Given the description of an element on the screen output the (x, y) to click on. 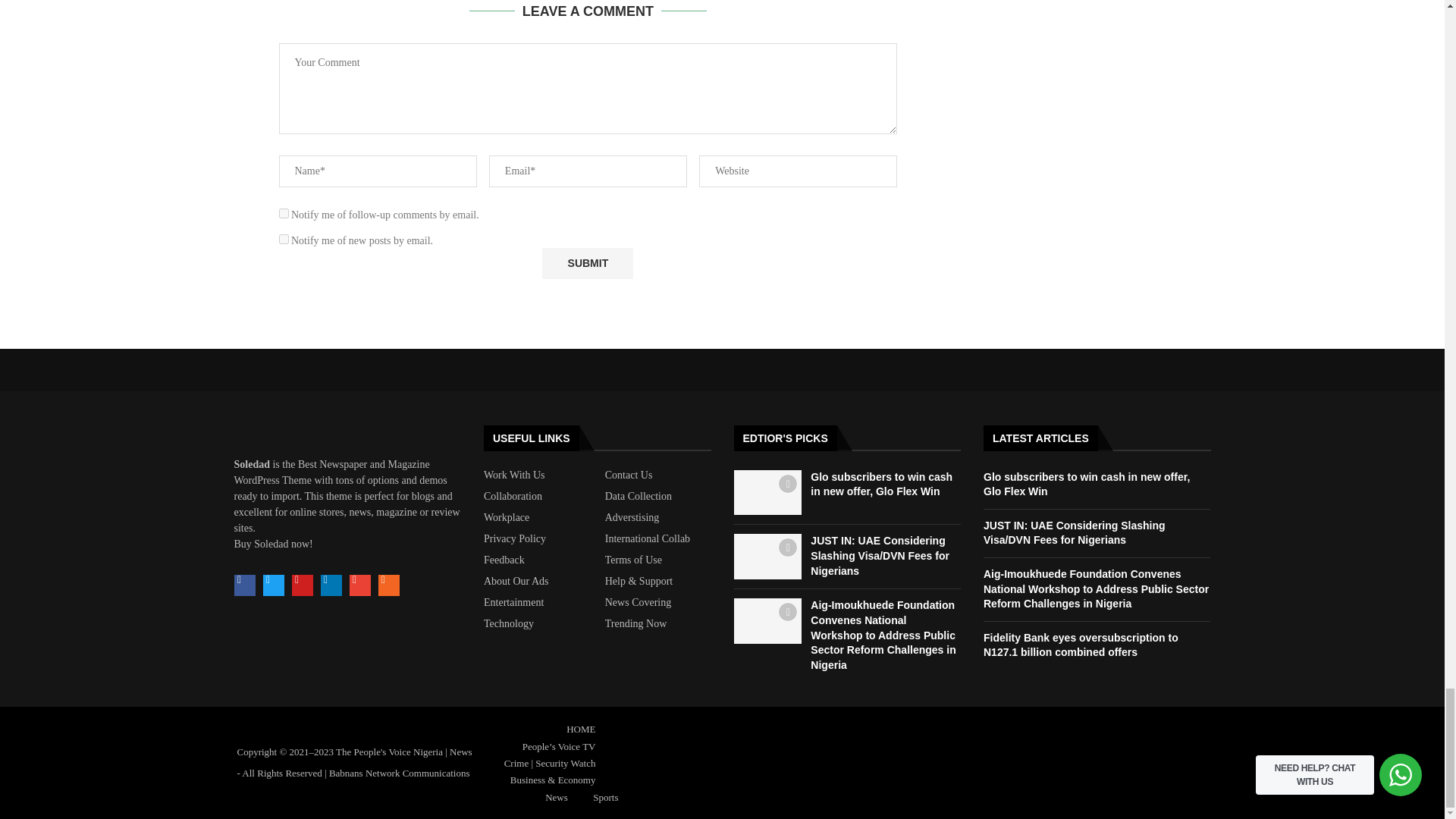
subscribe (283, 213)
subscribe (283, 239)
Submit (587, 263)
